Given the description of an element on the screen output the (x, y) to click on. 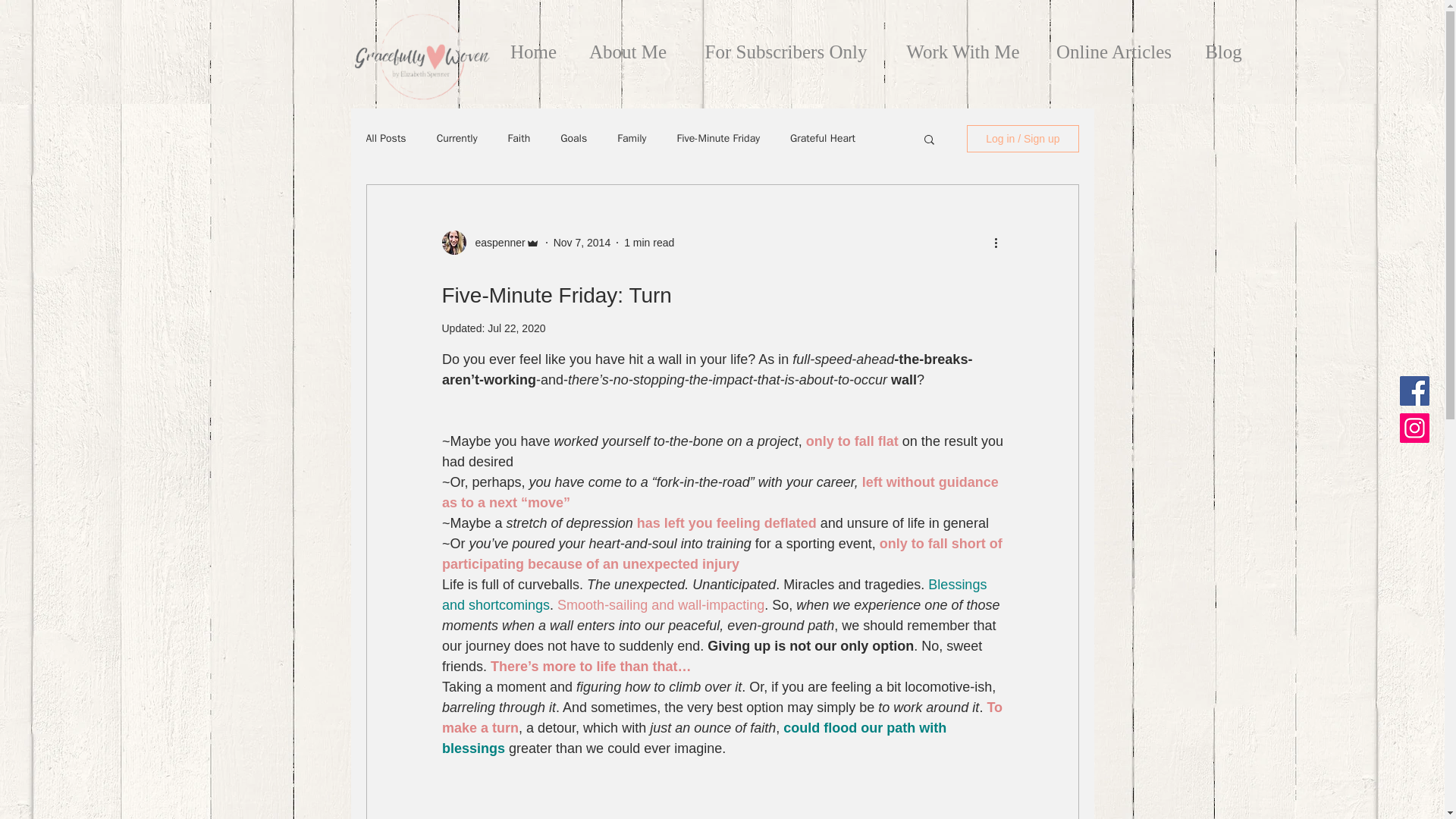
easpenner (494, 242)
1 min read (649, 242)
Online Articles (1113, 45)
Faith (519, 138)
Currently (456, 138)
For Subscribers Only (785, 45)
Five-Minute Friday (718, 138)
Grateful Heart (823, 138)
About Me (627, 45)
Blog (1223, 45)
Jul 22, 2020 (515, 328)
Family (631, 138)
Goals (573, 138)
All Posts (385, 138)
Home (534, 45)
